Given the description of an element on the screen output the (x, y) to click on. 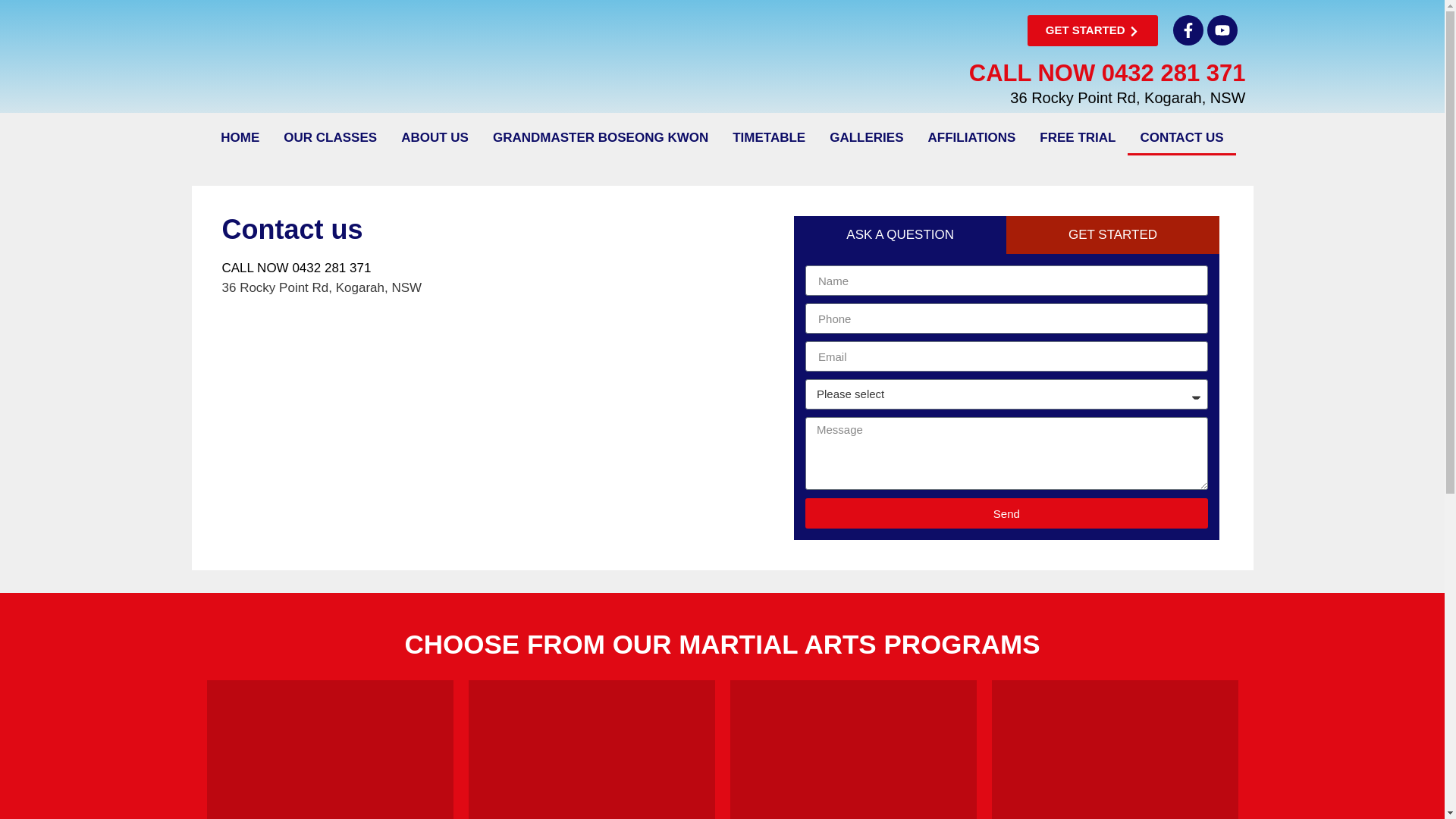
AFFILIATIONS Element type: text (972, 137)
HOME Element type: text (239, 137)
36 Rocky Point Rd, Kogarah, NSW Element type: hover (616, 348)
GRANDMASTER BOSEONG KWON Element type: text (600, 137)
CALL NOW 0432 281 371 Element type: text (1107, 72)
ABOUT US Element type: text (434, 137)
OUR CLASSES Element type: text (330, 137)
GALLERIES Element type: text (866, 137)
FREE TRIAL Element type: text (1077, 137)
TIMETABLE Element type: text (768, 137)
GET STARTED Element type: text (1092, 30)
CONTACT US Element type: text (1181, 137)
CALL NOW 0432 281 371 Element type: text (295, 267)
Send Element type: text (1006, 513)
